Given the description of an element on the screen output the (x, y) to click on. 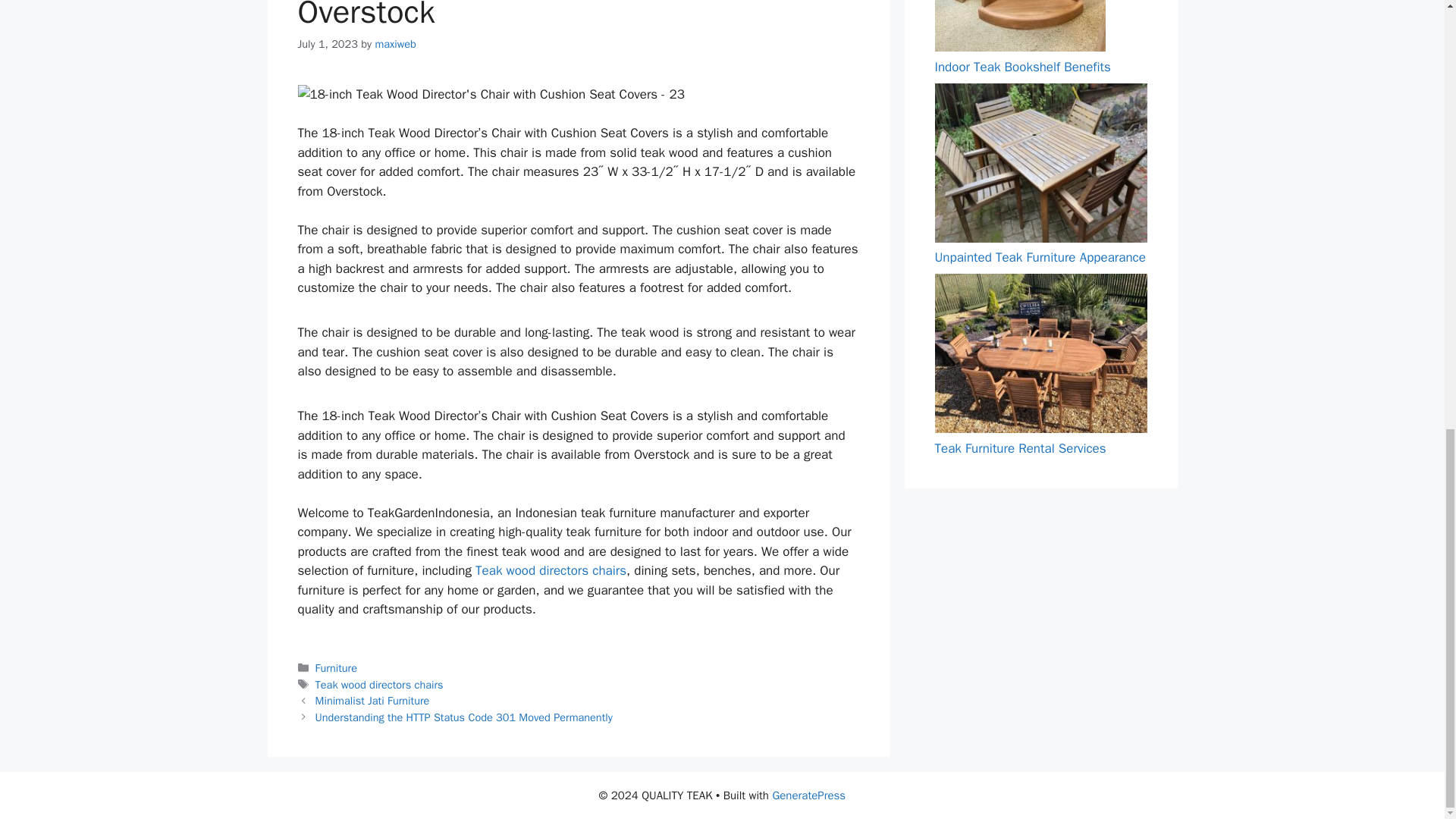
Indoor Teak Bookshelf Benefits (1021, 66)
Teak Furniture Rental Services (1019, 448)
Minimalist Jati Furniture (372, 700)
Unpainted Teak Furniture Appearance (1039, 257)
View all posts by maxiweb (395, 43)
GeneratePress (808, 795)
maxiweb (395, 43)
Understanding the HTTP Status Code 301 Moved Permanently (463, 716)
Furniture (335, 667)
Teak wood directors chairs (551, 570)
Teak wood directors chairs (379, 684)
